Given the description of an element on the screen output the (x, y) to click on. 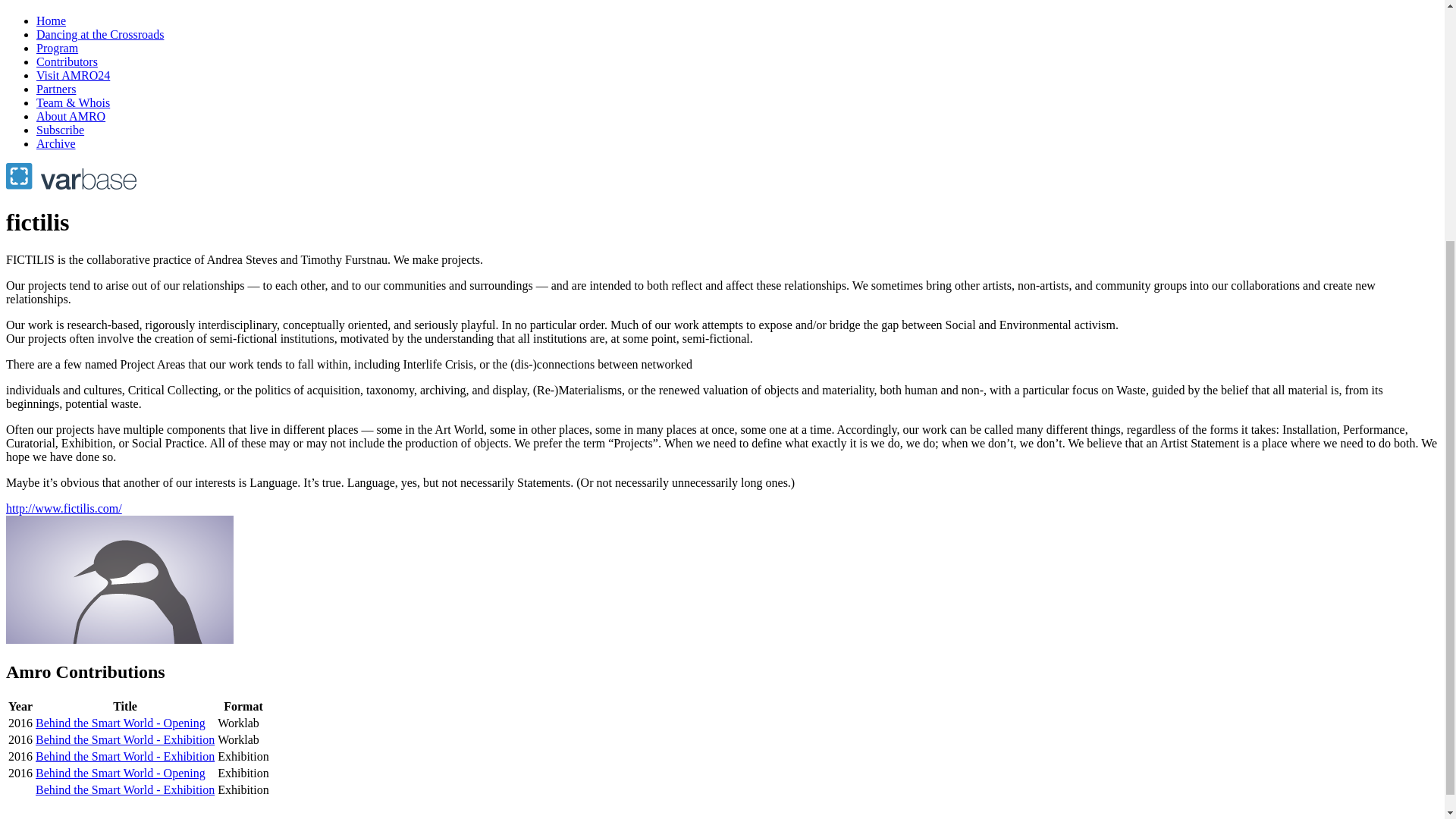
Contributors (66, 61)
Partners (55, 88)
Visit AMRO24 (73, 74)
Behind the Smart World - Exhibition (124, 739)
Program (57, 47)
Subscribe (60, 129)
About AMRO (70, 115)
Dancing at the Crossroads (99, 33)
Behind the Smart World - Opening (119, 772)
Home (50, 20)
